Given the description of an element on the screen output the (x, y) to click on. 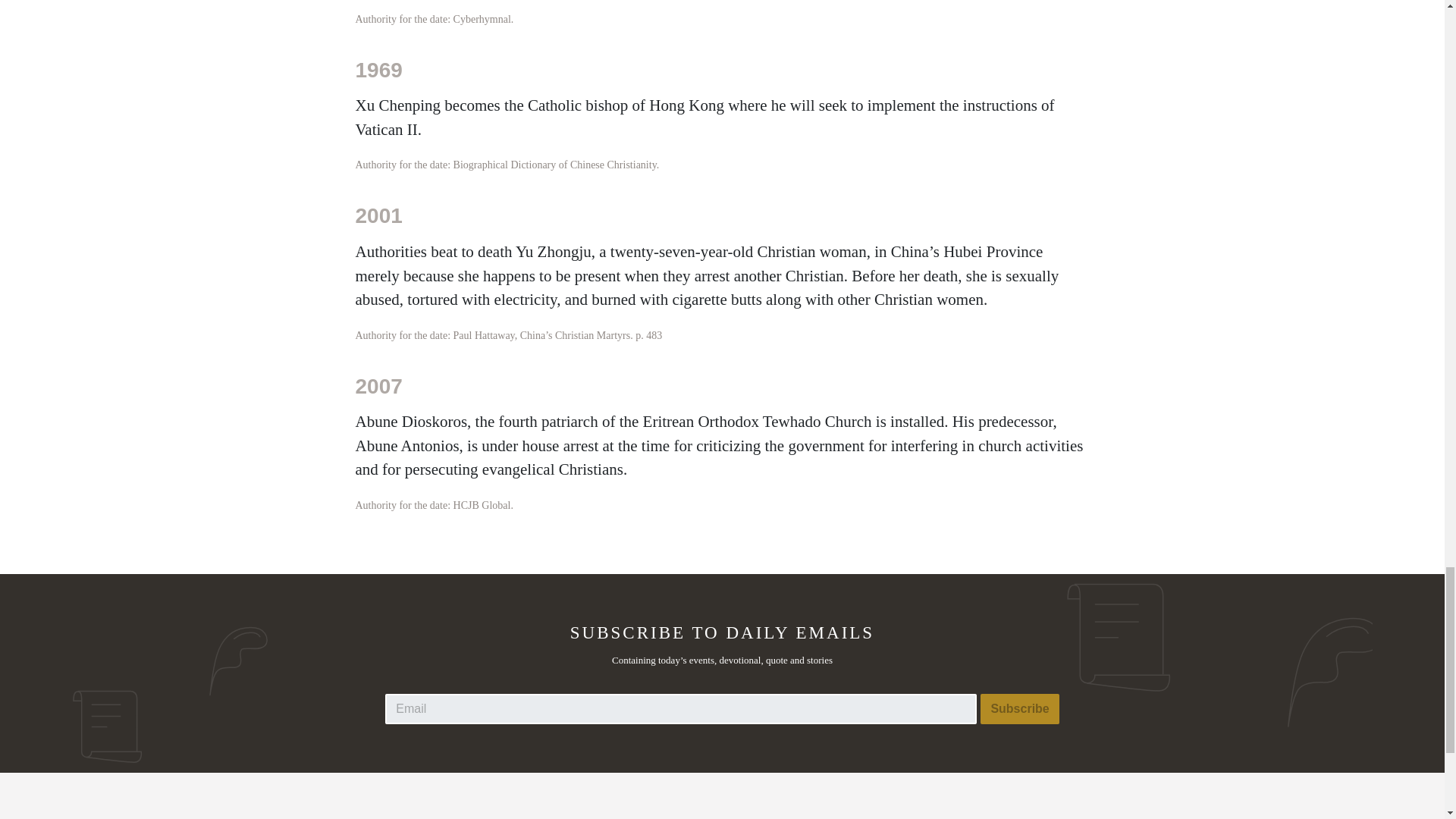
Subscribe (1018, 708)
